Given the description of an element on the screen output the (x, y) to click on. 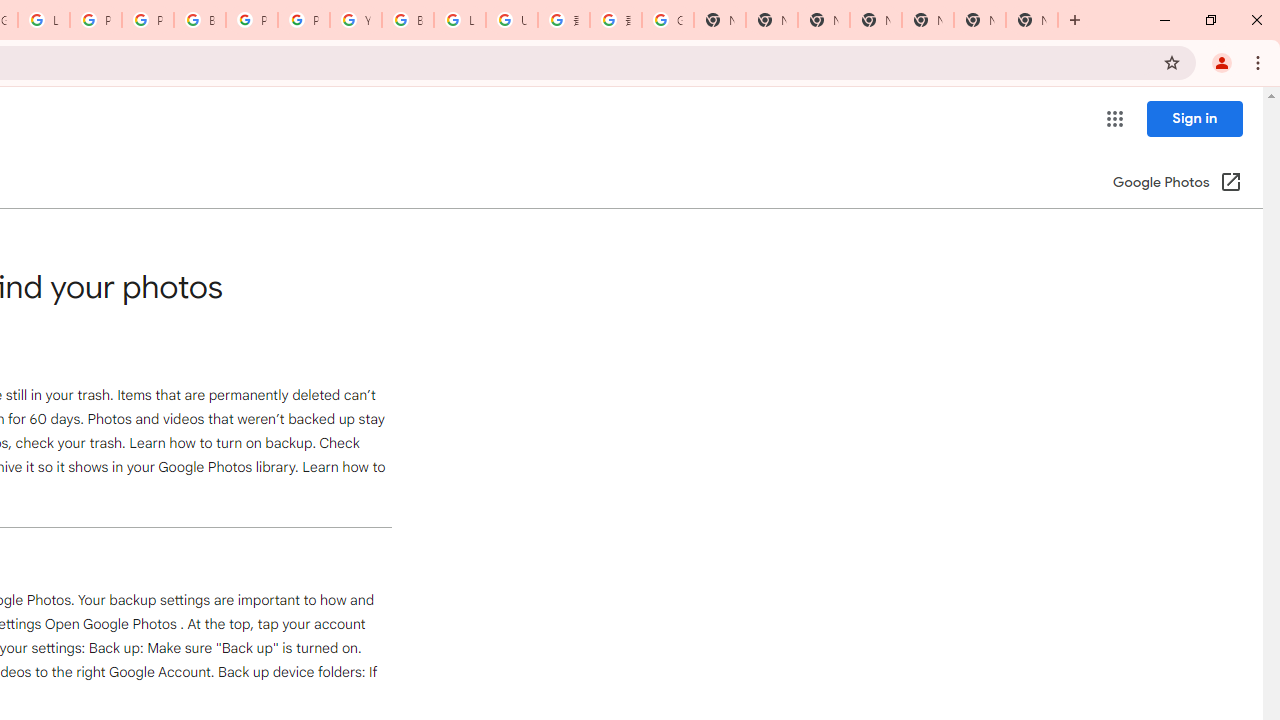
YouTube (355, 20)
New Tab (875, 20)
Privacy Help Center - Policies Help (147, 20)
